Given the description of an element on the screen output the (x, y) to click on. 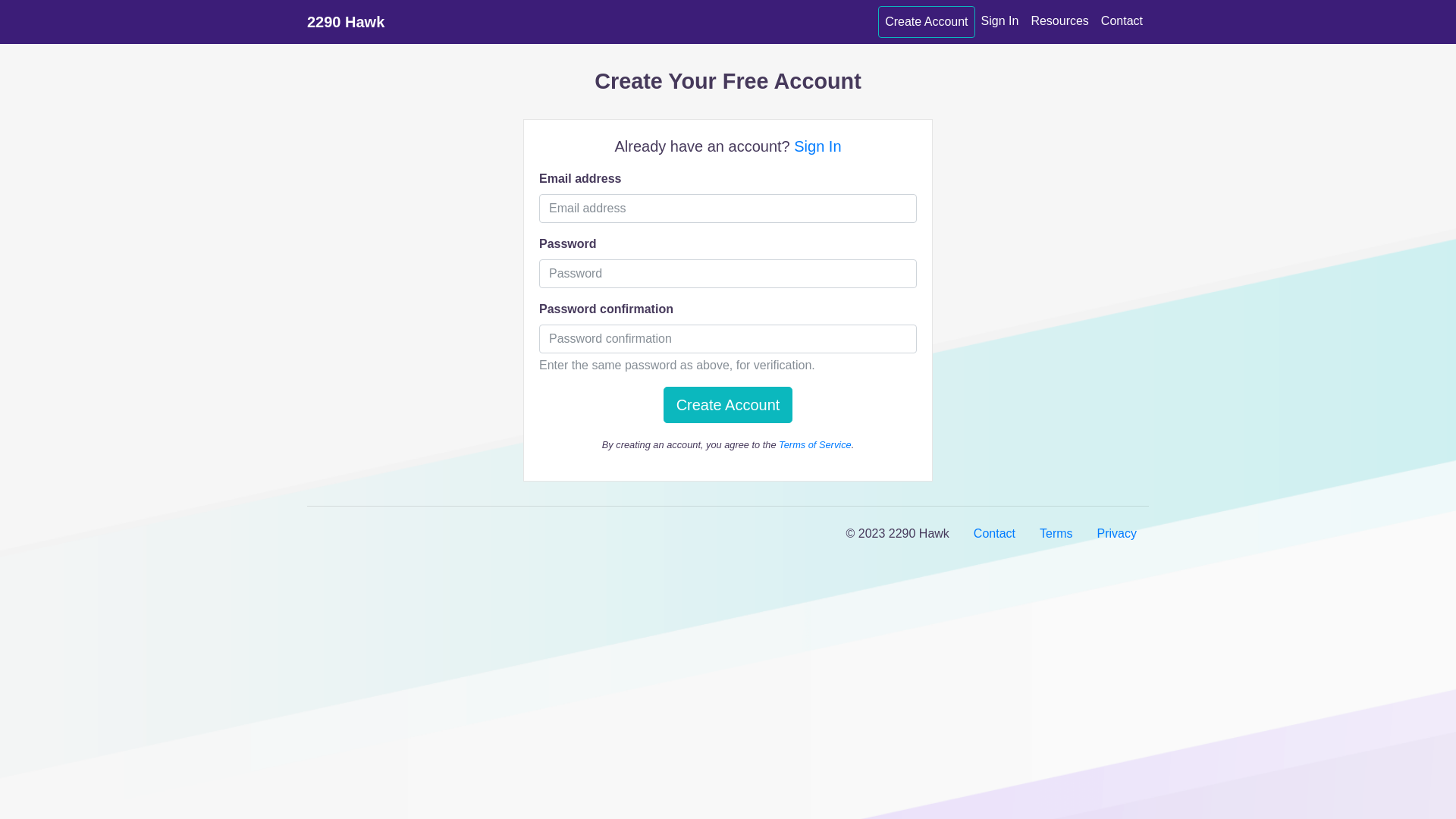
Enter the same password as above, for verification. Element type: hover (727, 338)
Terms Element type: text (1056, 533)
Contact Element type: text (994, 533)
Contact Element type: text (1121, 21)
Terms of Service Element type: text (814, 444)
Sign In Element type: text (1000, 21)
Resources Element type: text (1059, 21)
Create Account Element type: text (728, 404)
2290 Hawk Element type: text (345, 21)
Privacy Element type: text (1116, 533)
Sign In Element type: text (816, 146)
Create Account Element type: text (926, 21)
